Given the description of an element on the screen output the (x, y) to click on. 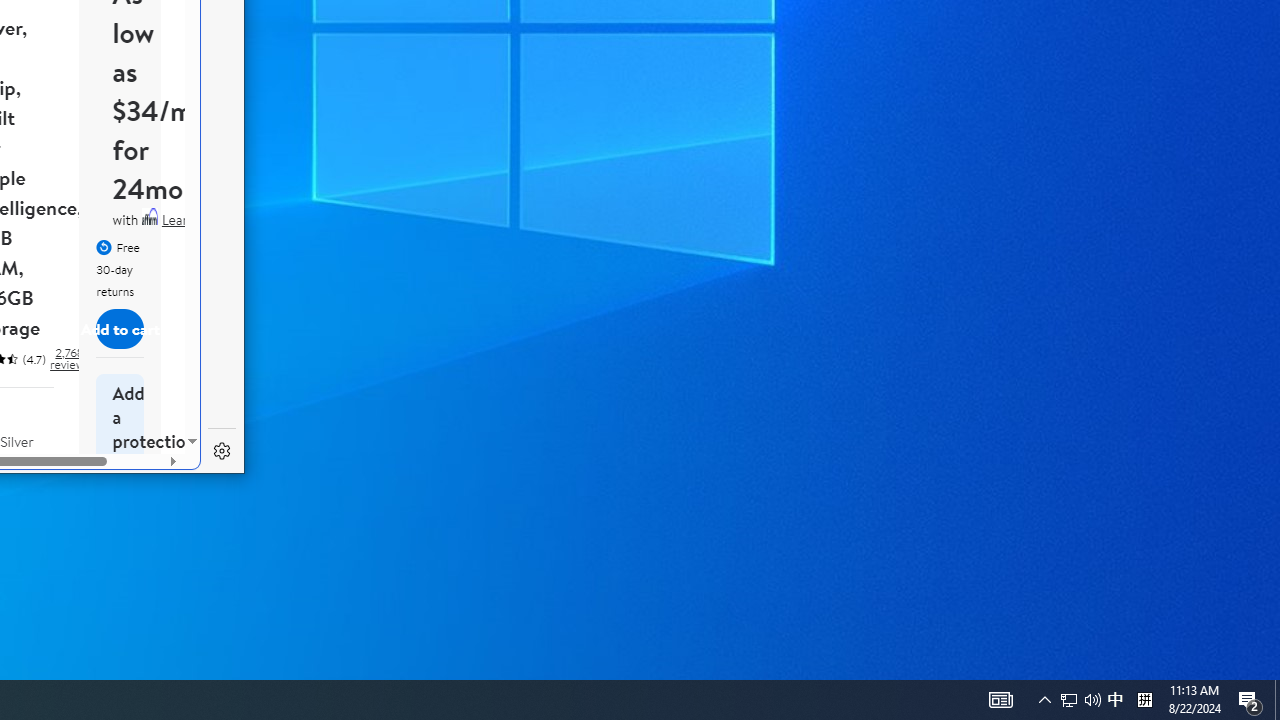
Affirm (149, 216)
Tray Input Indicator - Chinese (Simplified, China) (1144, 699)
Show desktop (1277, 699)
